Given the description of an element on the screen output the (x, y) to click on. 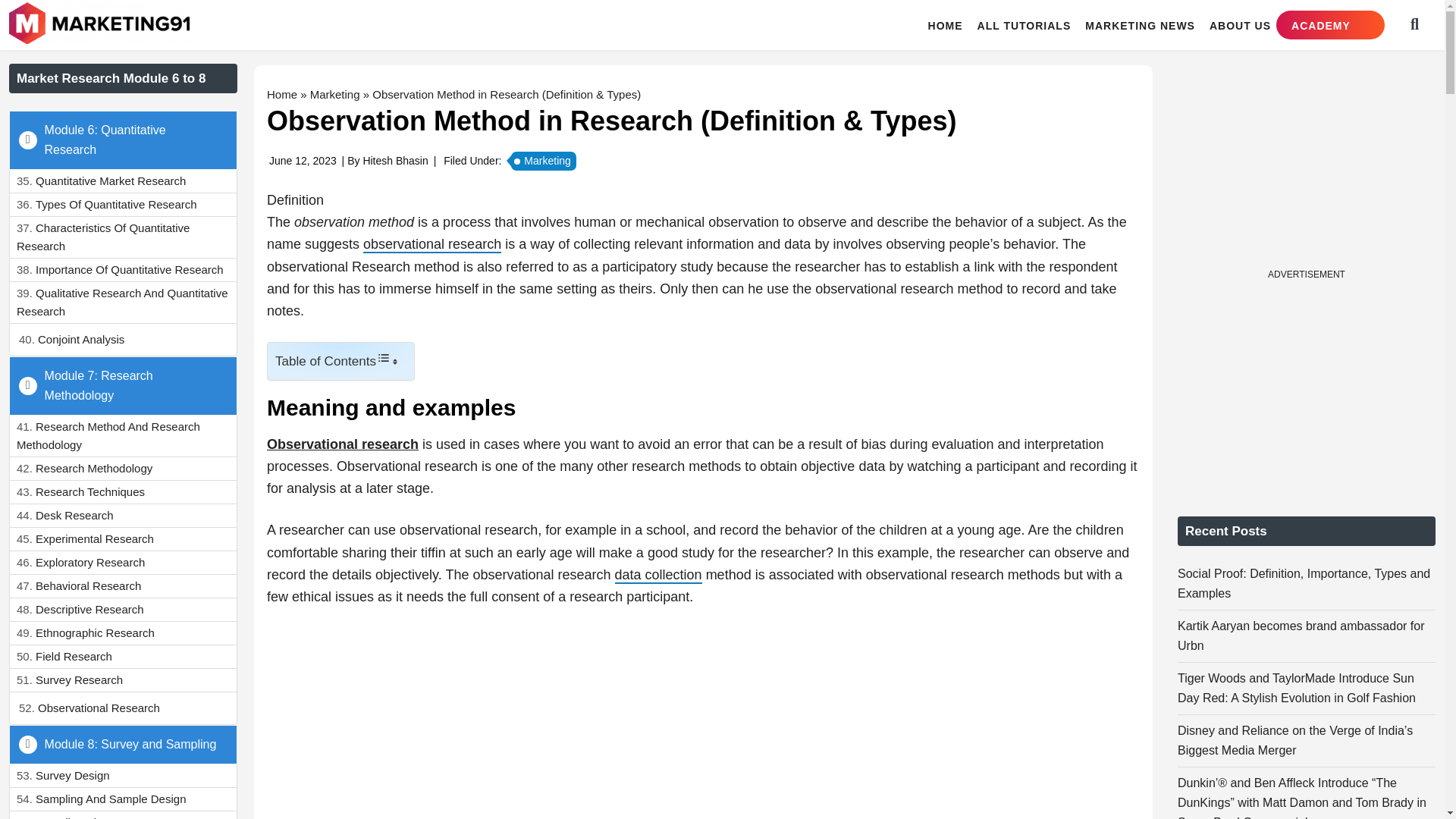
ALL TUTORIALS (1024, 24)
MARKETING91 (101, 24)
HOME (945, 24)
